Given the description of an element on the screen output the (x, y) to click on. 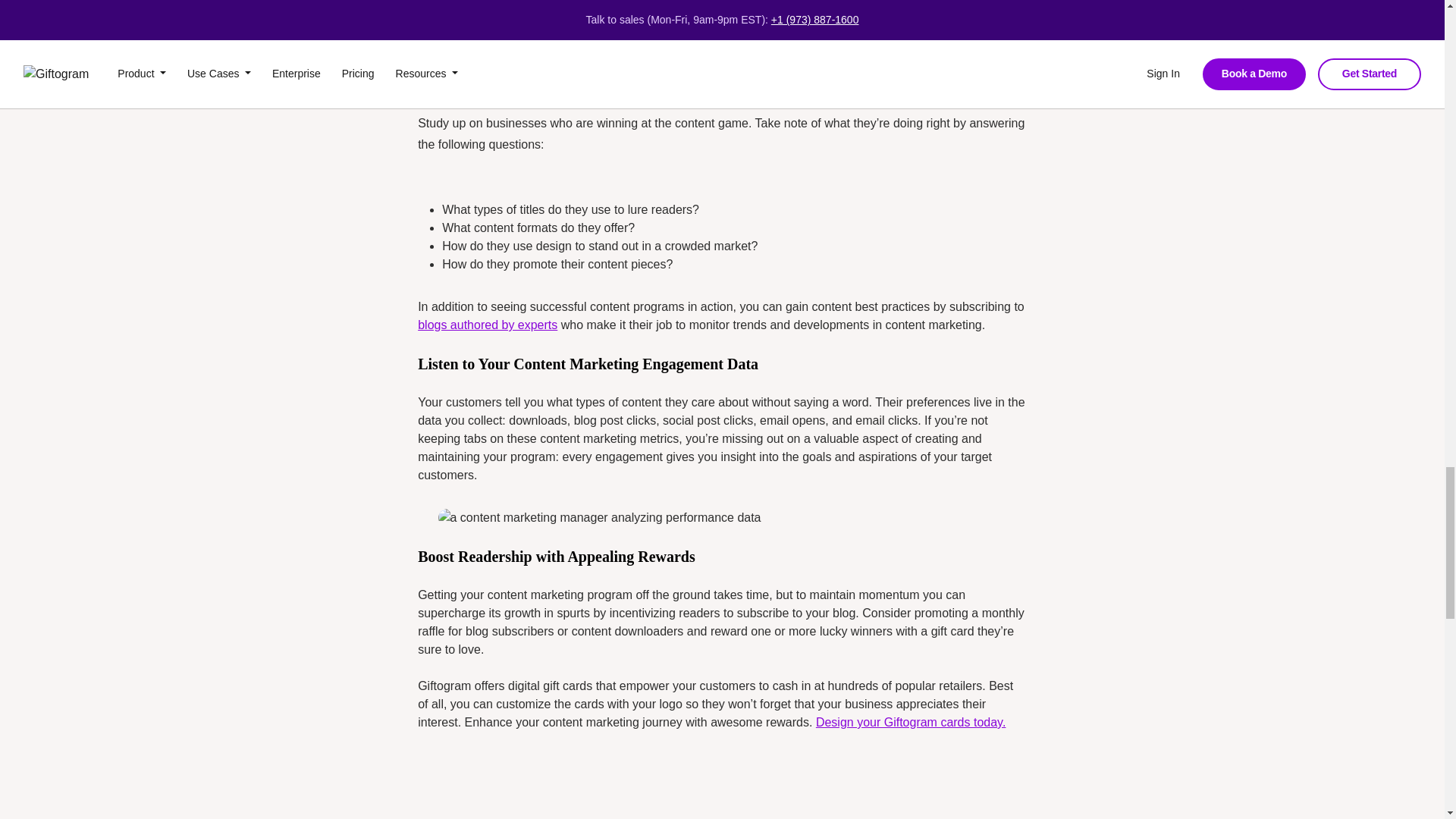
Design your Giftogram cards today. (910, 721)
blogs authored by experts (487, 324)
